Given the description of an element on the screen output the (x, y) to click on. 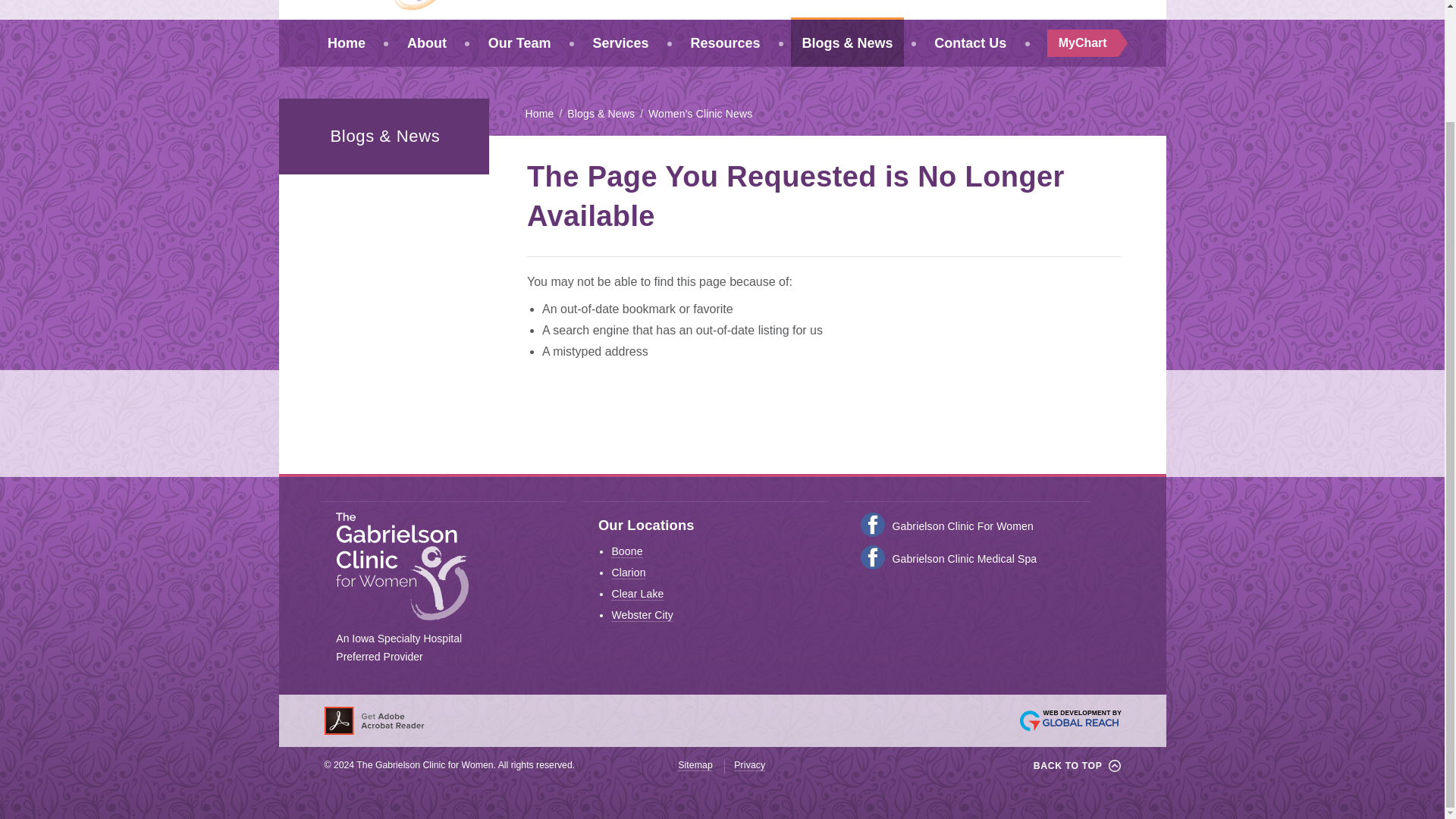
Womens Health Facebook page (872, 524)
Gabrielson Clinic - Medical Spa Facebook page (872, 557)
